Given the description of an element on the screen output the (x, y) to click on. 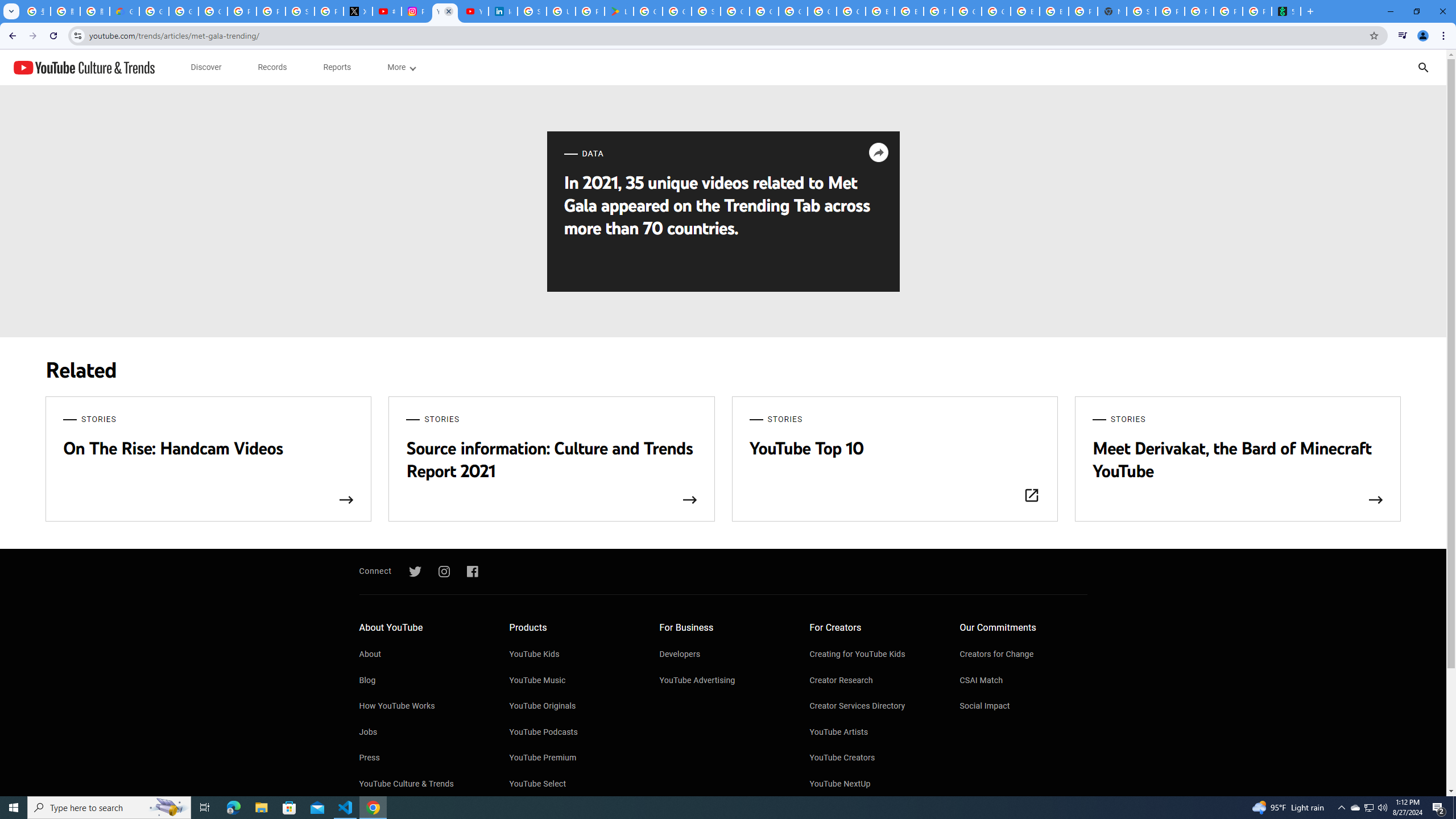
Google Workspace - Specific Terms (677, 11)
Browse Chrome as a guest - Computer - Google Chrome Help (879, 11)
subnav-Records menupopup (271, 67)
YouTube Culture & Trends (422, 784)
subnav-Reports menupopup (336, 67)
subnav-Records menupopup (271, 67)
Developers (723, 655)
